Given the description of an element on the screen output the (x, y) to click on. 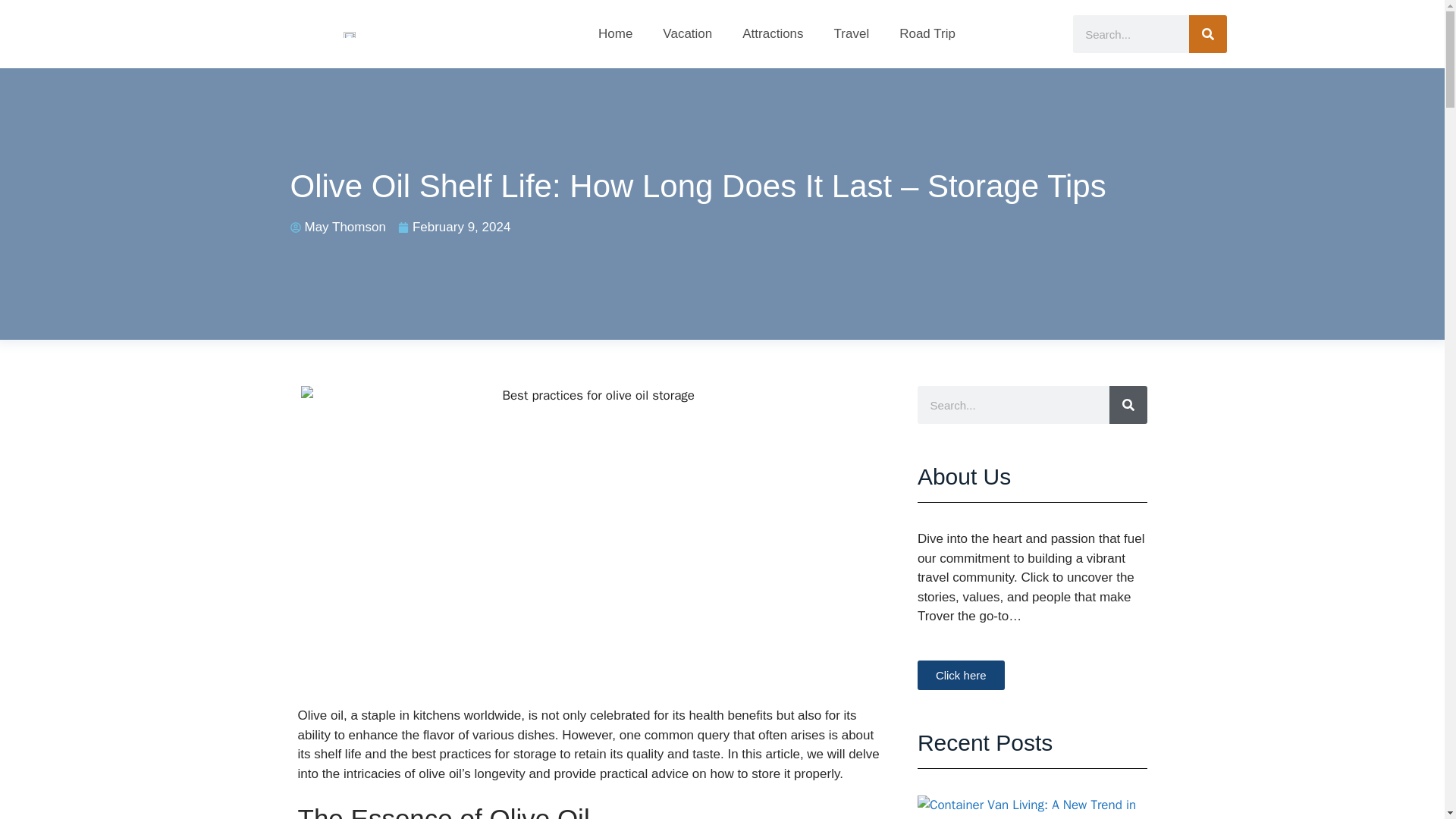
Travel (851, 33)
May Thomson (337, 227)
Home (615, 33)
Road Trip (927, 33)
Click here (960, 675)
February 9, 2024 (454, 227)
Vacation (686, 33)
Attractions (772, 33)
